Given the description of an element on the screen output the (x, y) to click on. 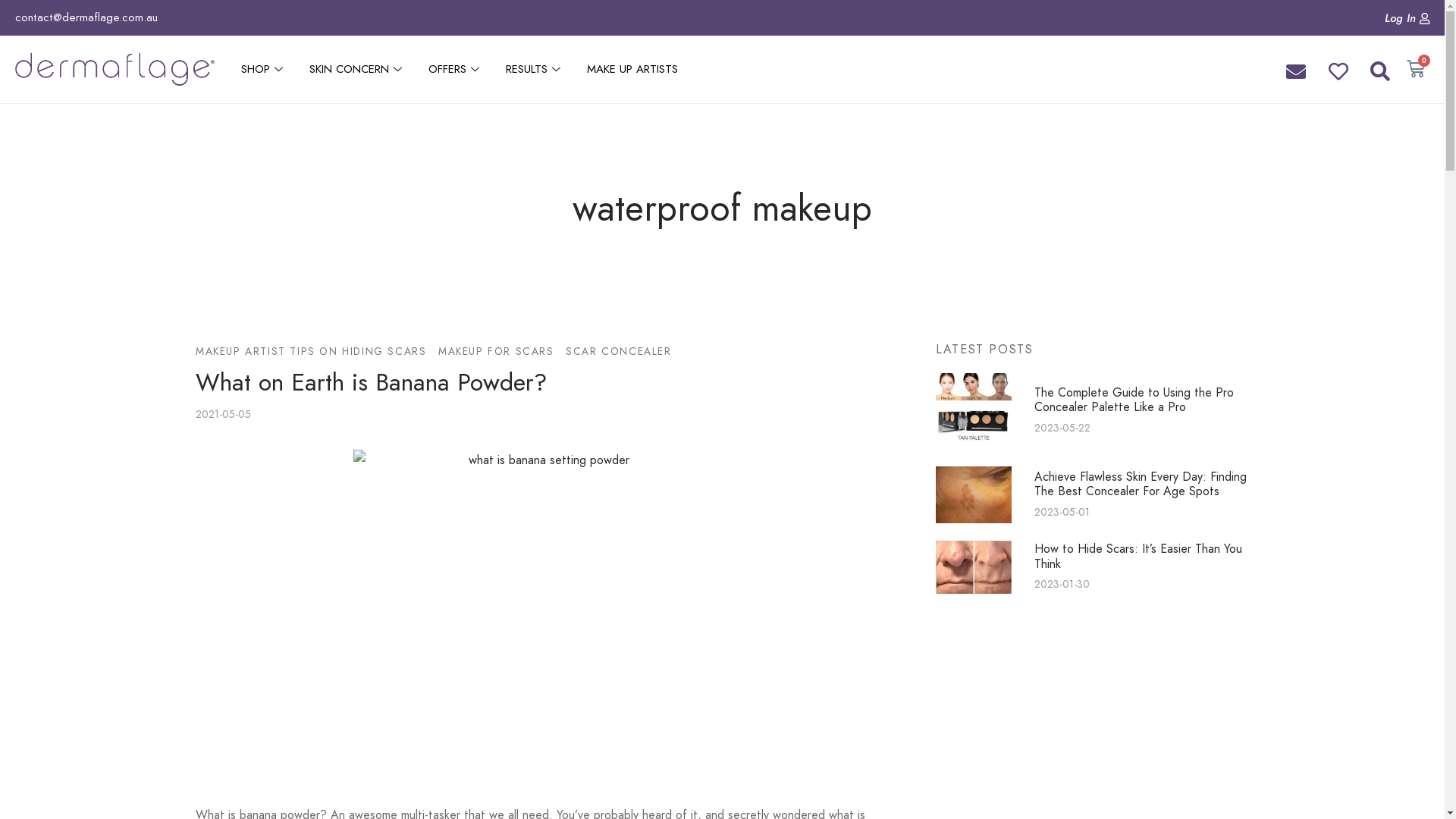
contact@dermaflage.com.au Element type: text (86, 17)
What on Earth is Banana Powder? Element type: hover (542, 611)
SKIN CONCERN Element type: text (357, 69)
SCAR CONCEALER Element type: text (618, 351)
Log In Element type: text (1406, 18)
MAKE UP ARTISTS Element type: text (632, 69)
0 Element type: text (1415, 68)
RESULTS Element type: text (534, 69)
2021-05-05 Element type: text (223, 413)
What on Earth is Banana Powder? Element type: text (371, 381)
OFFERS Element type: text (455, 69)
MAKEUP FOR SCARS Element type: text (496, 351)
SHOP Element type: text (263, 69)
MAKEUP ARTIST TIPS ON HIDING SCARS Element type: text (310, 351)
